Given the description of an element on the screen output the (x, y) to click on. 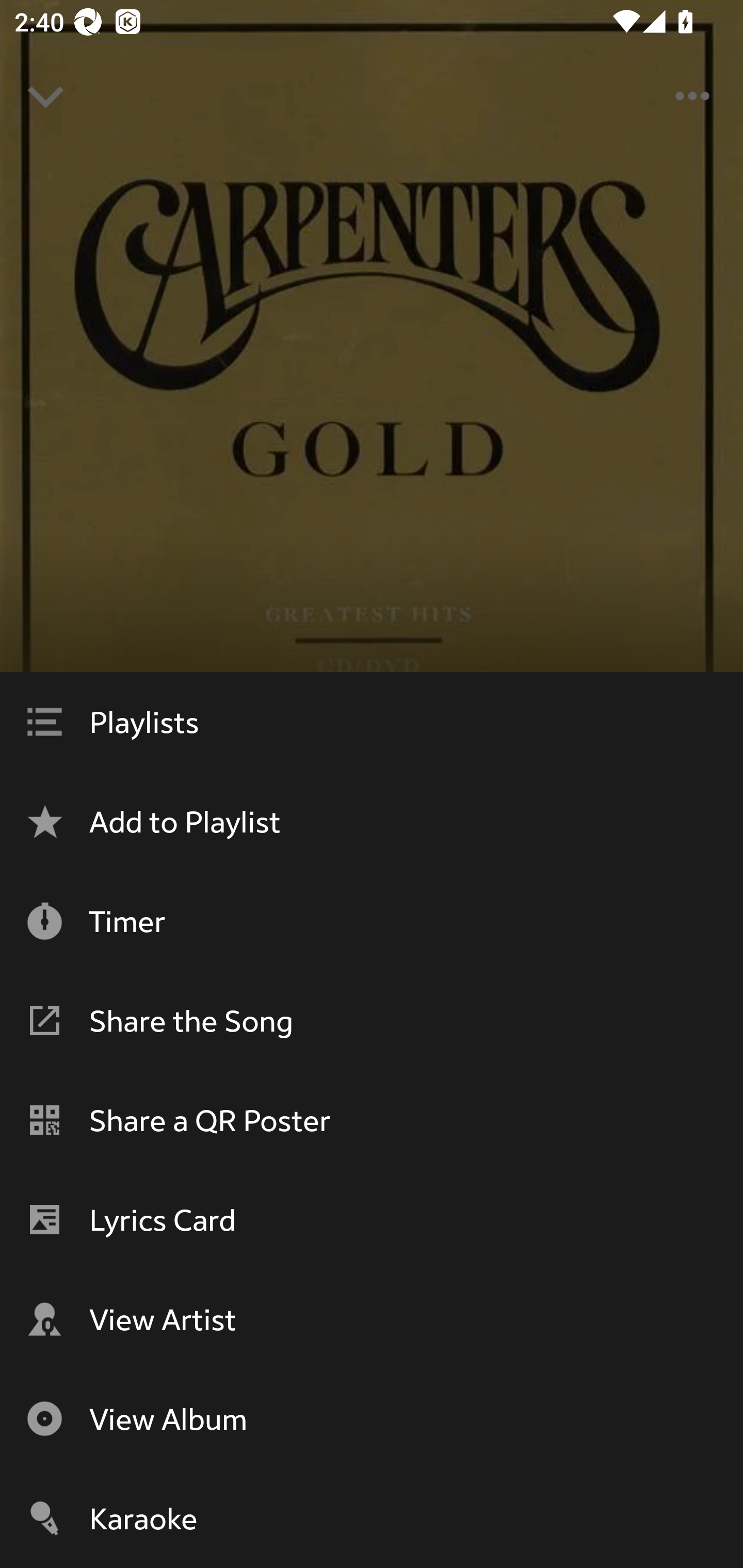
Playlists (371, 721)
Add to Playlist (371, 821)
Timer (371, 920)
Share the Song (371, 1020)
Share a QR Poster (371, 1119)
Lyrics Card (371, 1219)
View Artist (371, 1319)
View Album (371, 1418)
Karaoke (371, 1518)
